Given the description of an element on the screen output the (x, y) to click on. 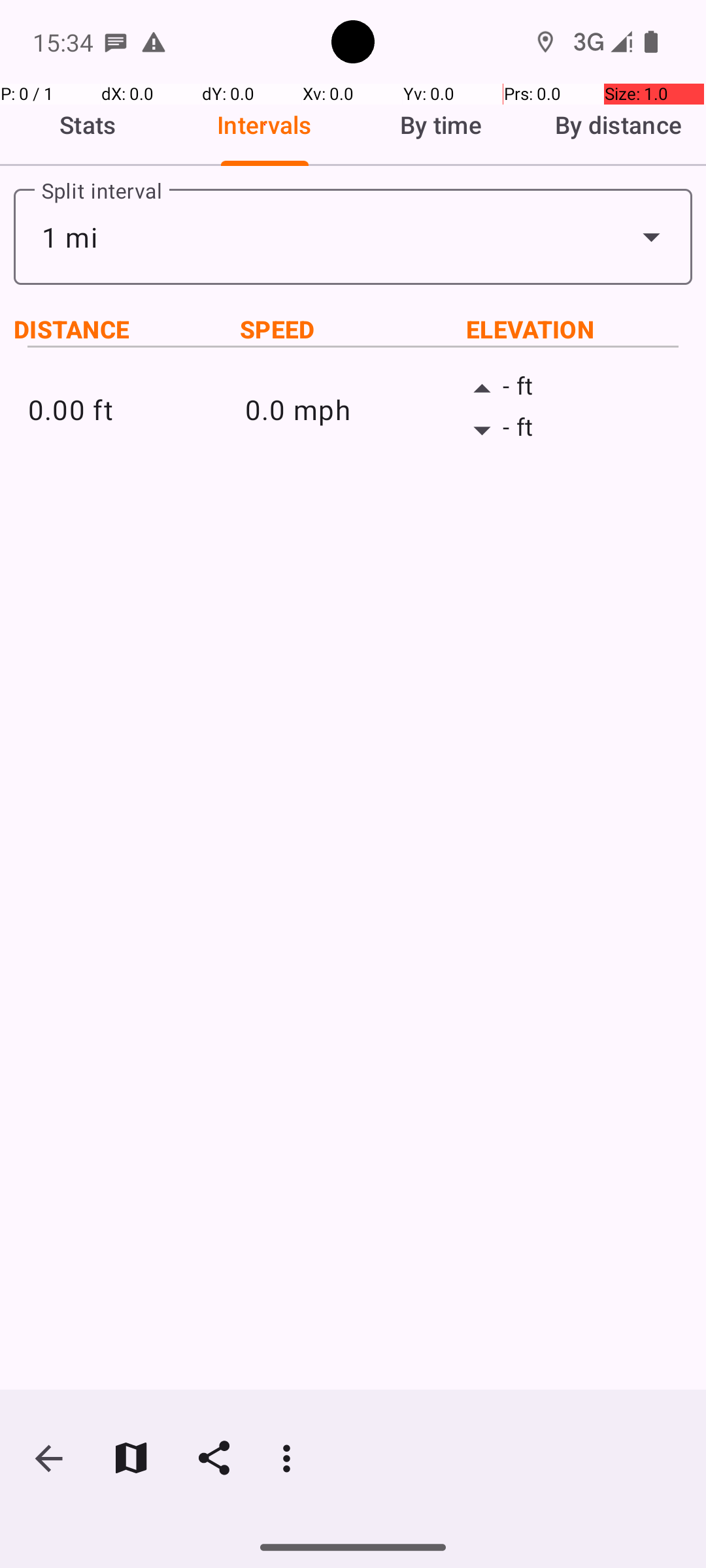
1 mi Element type: android.widget.Spinner (352, 236)
0.00 ft Element type: android.widget.TextView (135, 408)
0.0 mph Element type: android.widget.TextView (352, 408)
- ft Element type: android.widget.TextView (569, 388)
